Given the description of an element on the screen output the (x, y) to click on. 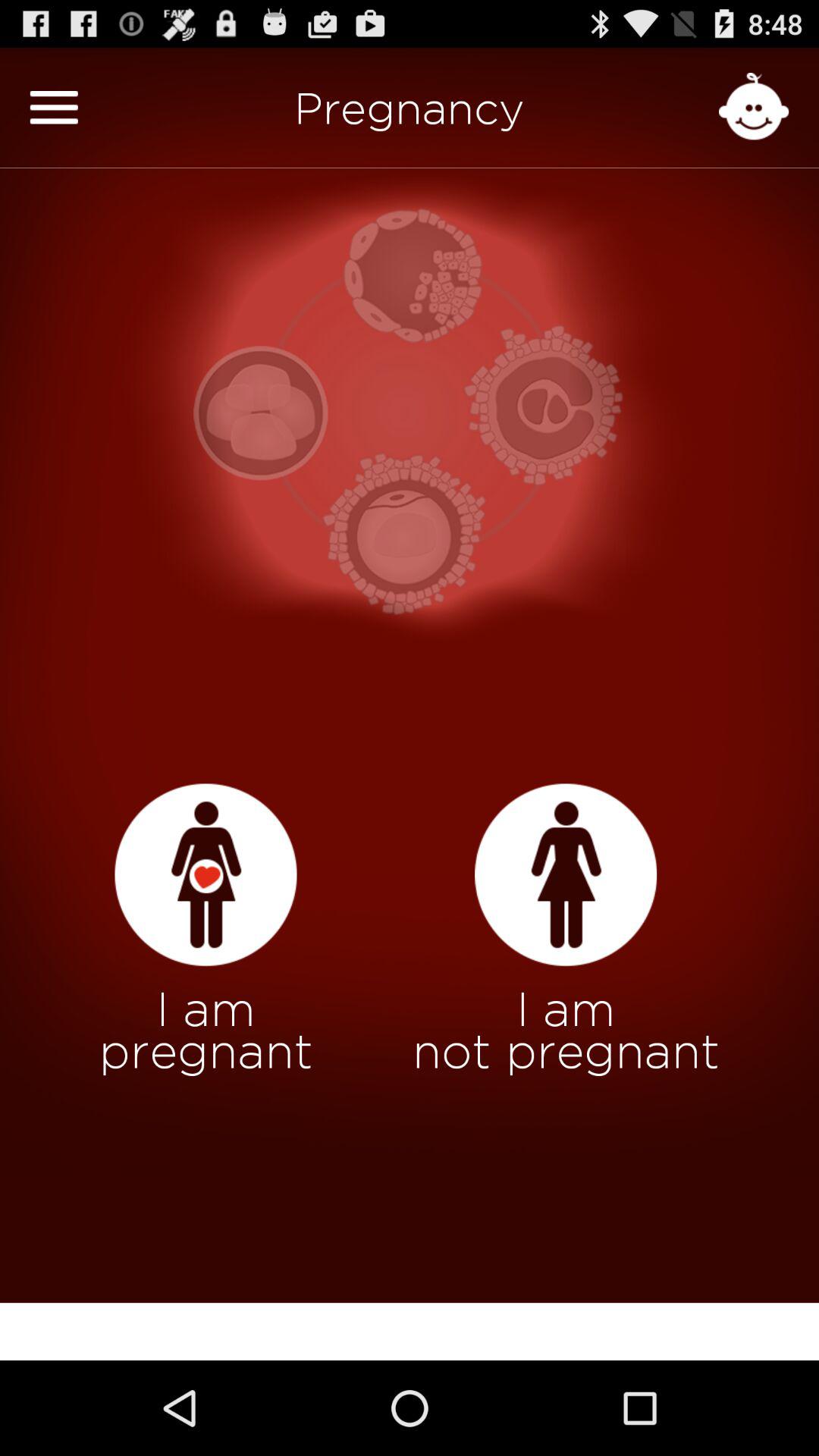
open app menu (53, 107)
